Given the description of an element on the screen output the (x, y) to click on. 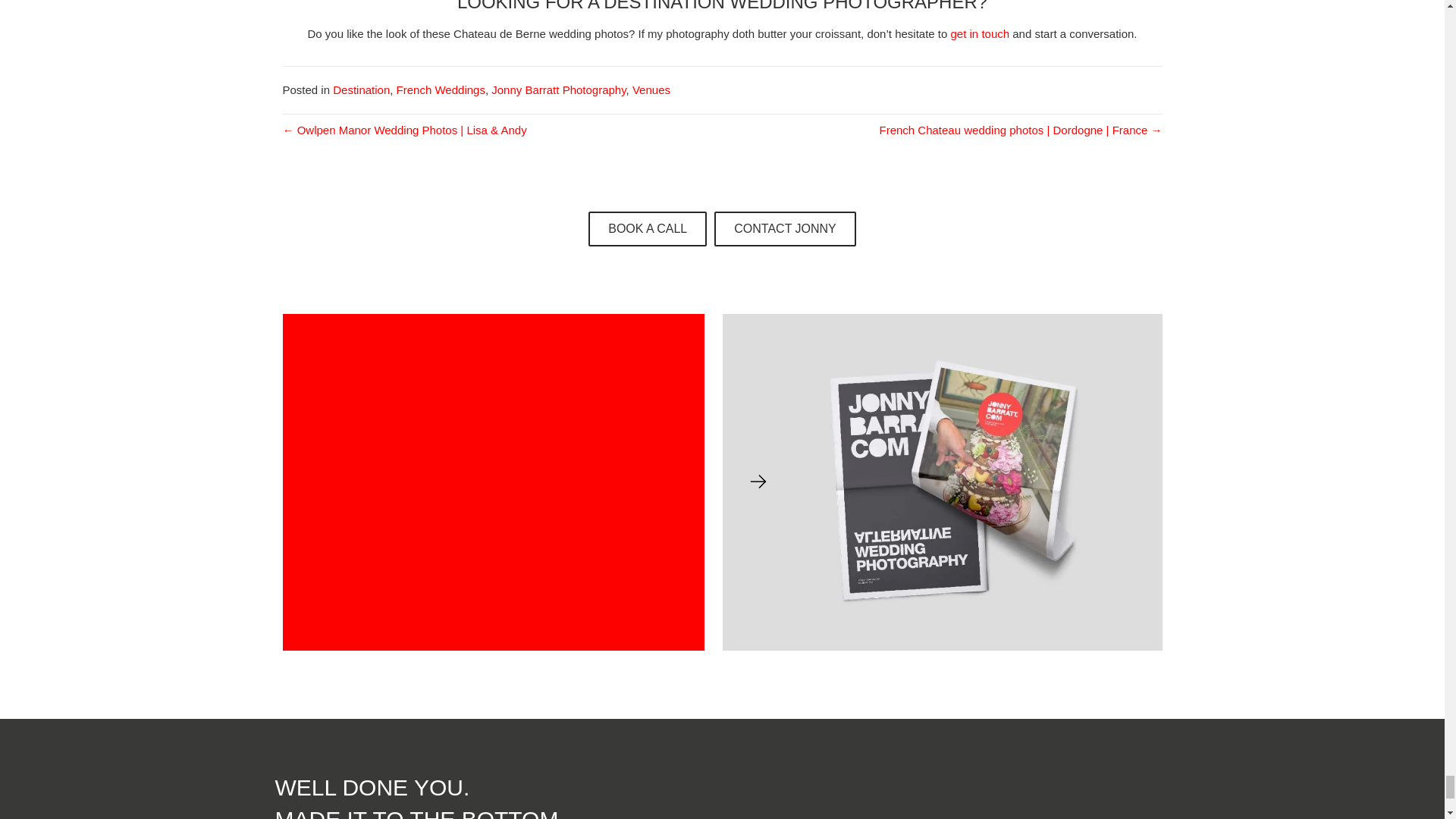
Destination (361, 89)
BOOK A CALL (647, 228)
French Weddings (440, 89)
get in touch (980, 33)
Jonny Barratt Photography (559, 89)
DESTINATION WEDDING PHOTOGRAPHER (790, 6)
Venues (650, 89)
CONTACT JONNY (785, 228)
